Given the description of an element on the screen output the (x, y) to click on. 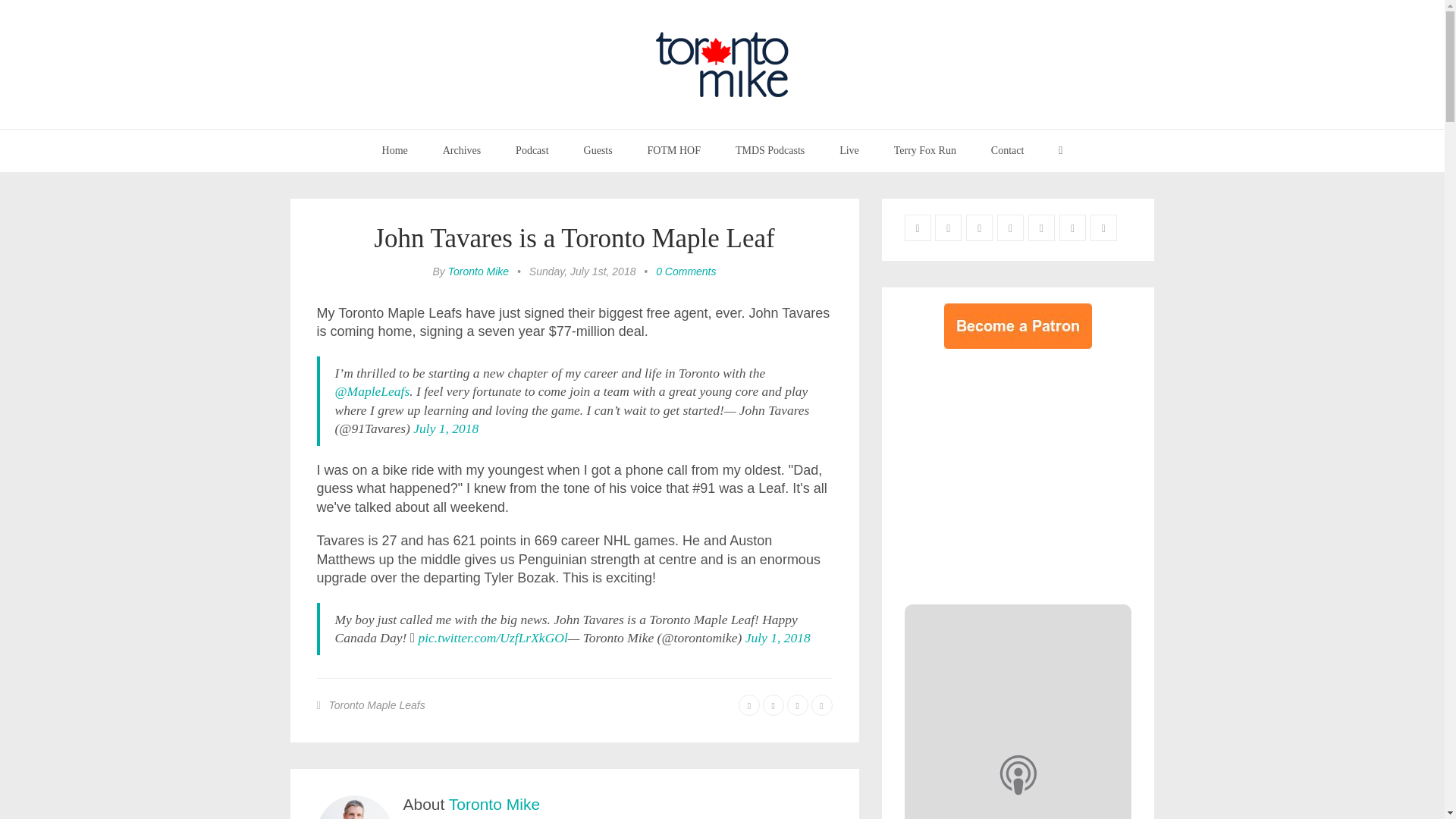
Podcast (531, 150)
Advertisement (1031, 472)
Guests (597, 150)
Toronto Mike (478, 271)
Toronto Maple Leafs (377, 705)
Contact (1008, 150)
July 1, 2018 (777, 637)
TMDS Podcasts (770, 150)
July 1, 2018 (446, 427)
Live (849, 150)
